Given the description of an element on the screen output the (x, y) to click on. 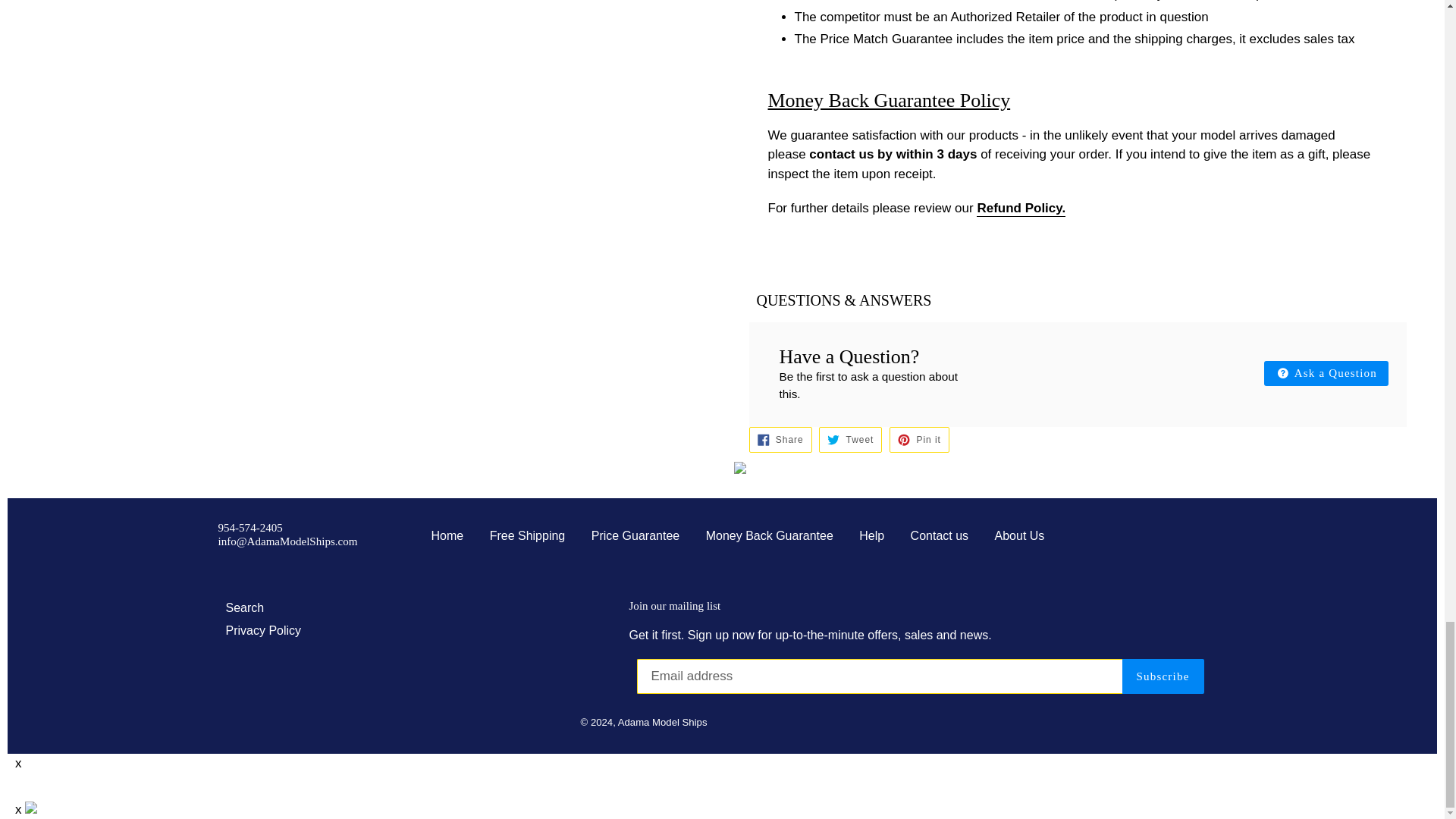
Pin on Pinterest (919, 439)
Share on Facebook (780, 439)
Tweet on Twitter (850, 439)
